Given the description of an element on the screen output the (x, y) to click on. 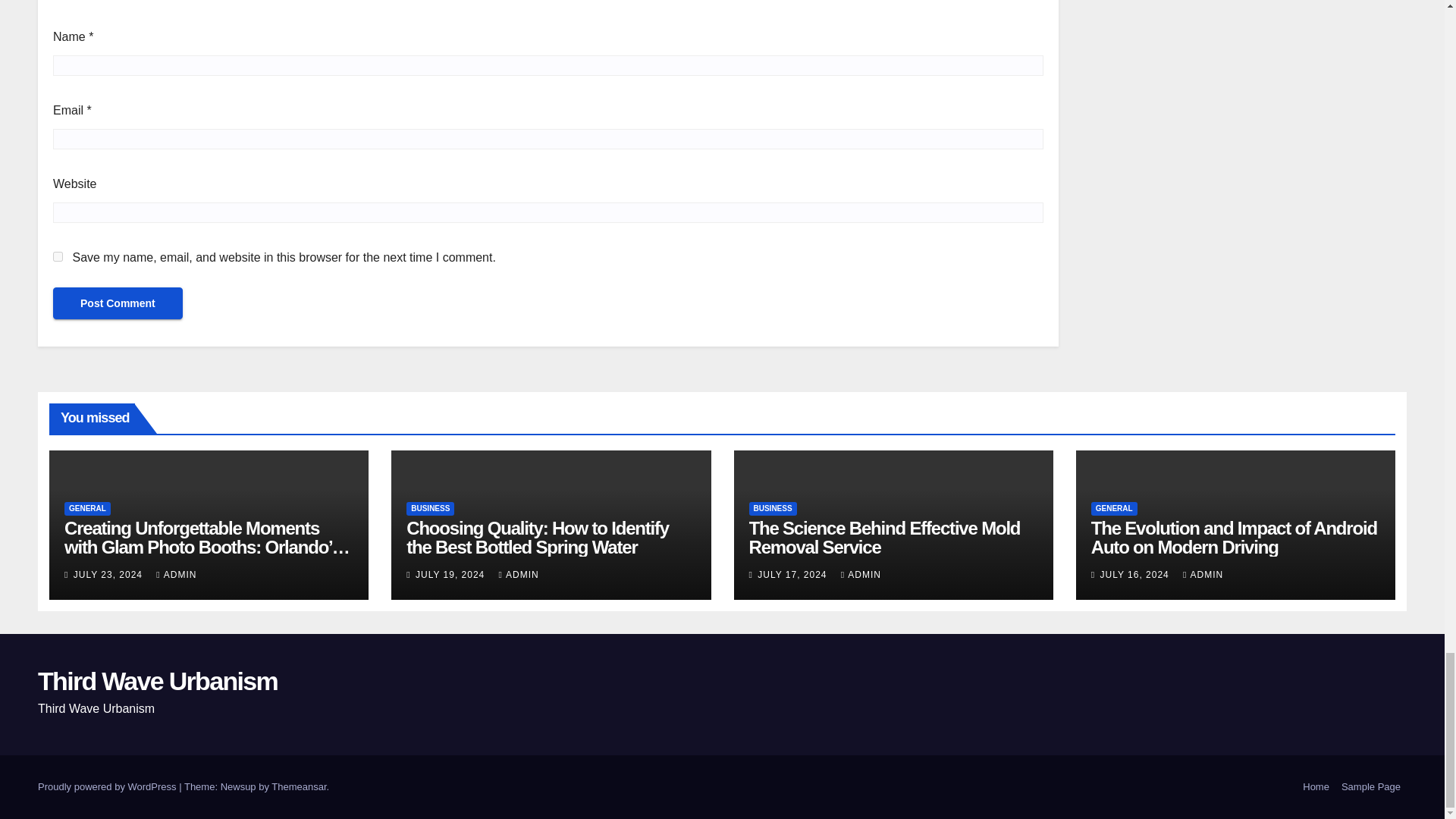
Post Comment (117, 303)
yes (57, 256)
Home (1316, 786)
